Given the description of an element on the screen output the (x, y) to click on. 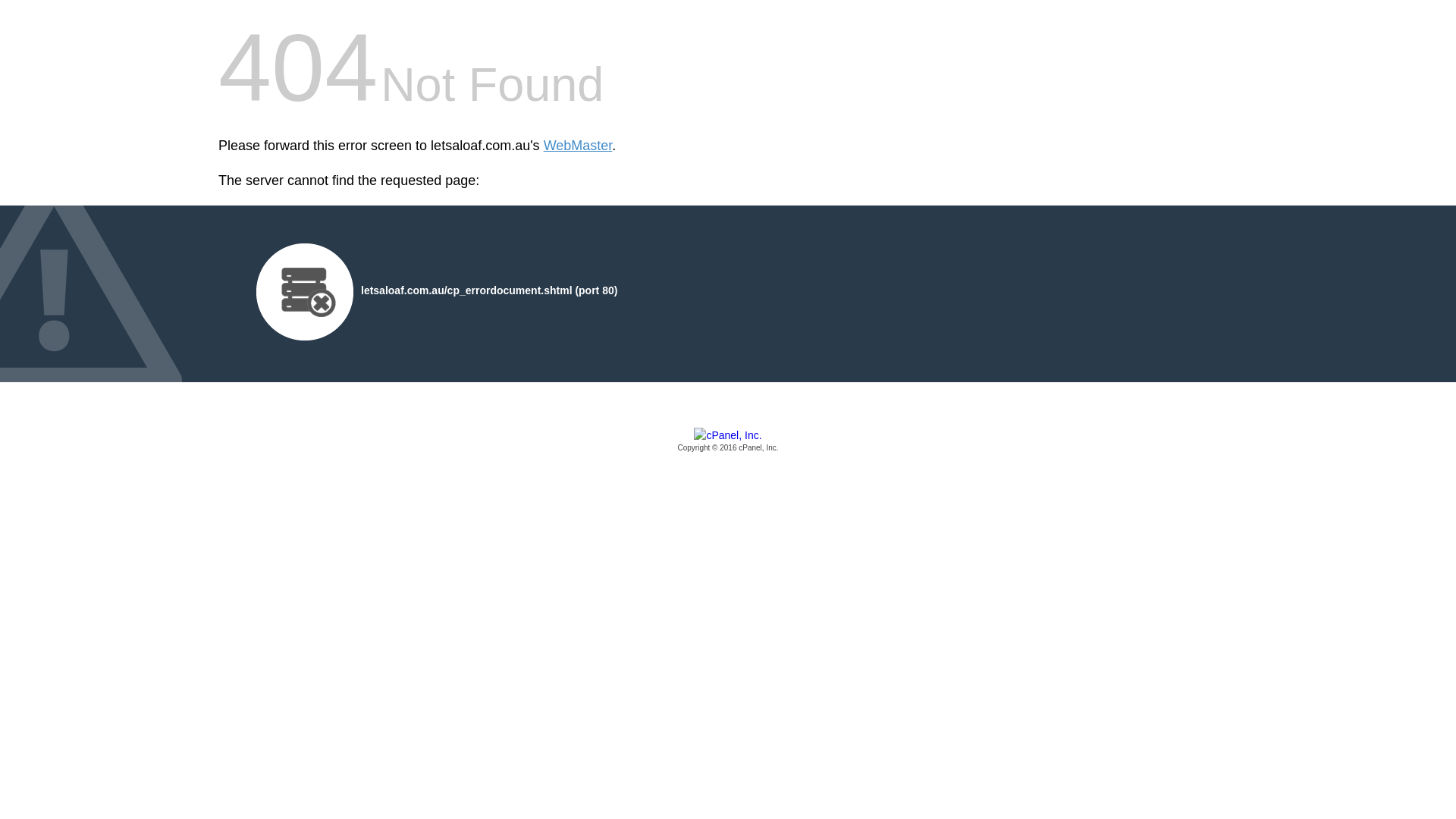
WebMaster Element type: text (577, 145)
